Given the description of an element on the screen output the (x, y) to click on. 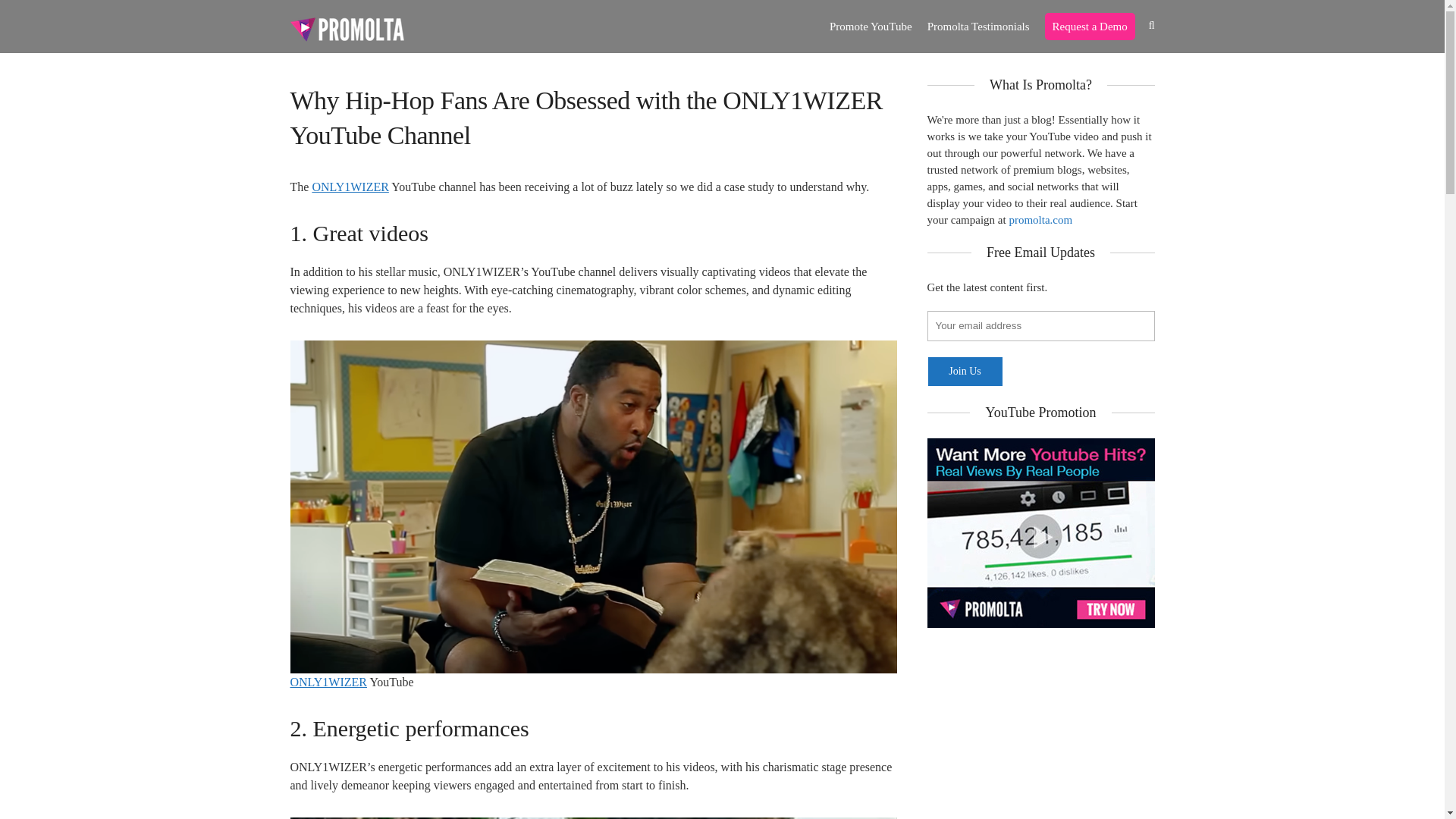
Promolta Blog (346, 28)
Promolta Testimonials (978, 26)
Join Us (964, 371)
Request a Demo (1090, 26)
Join Us (964, 371)
ONLY1WIZER (327, 681)
promolta.com (1040, 219)
Promote YouTube (870, 26)
ONLY1WIZER (349, 186)
